Given the description of an element on the screen output the (x, y) to click on. 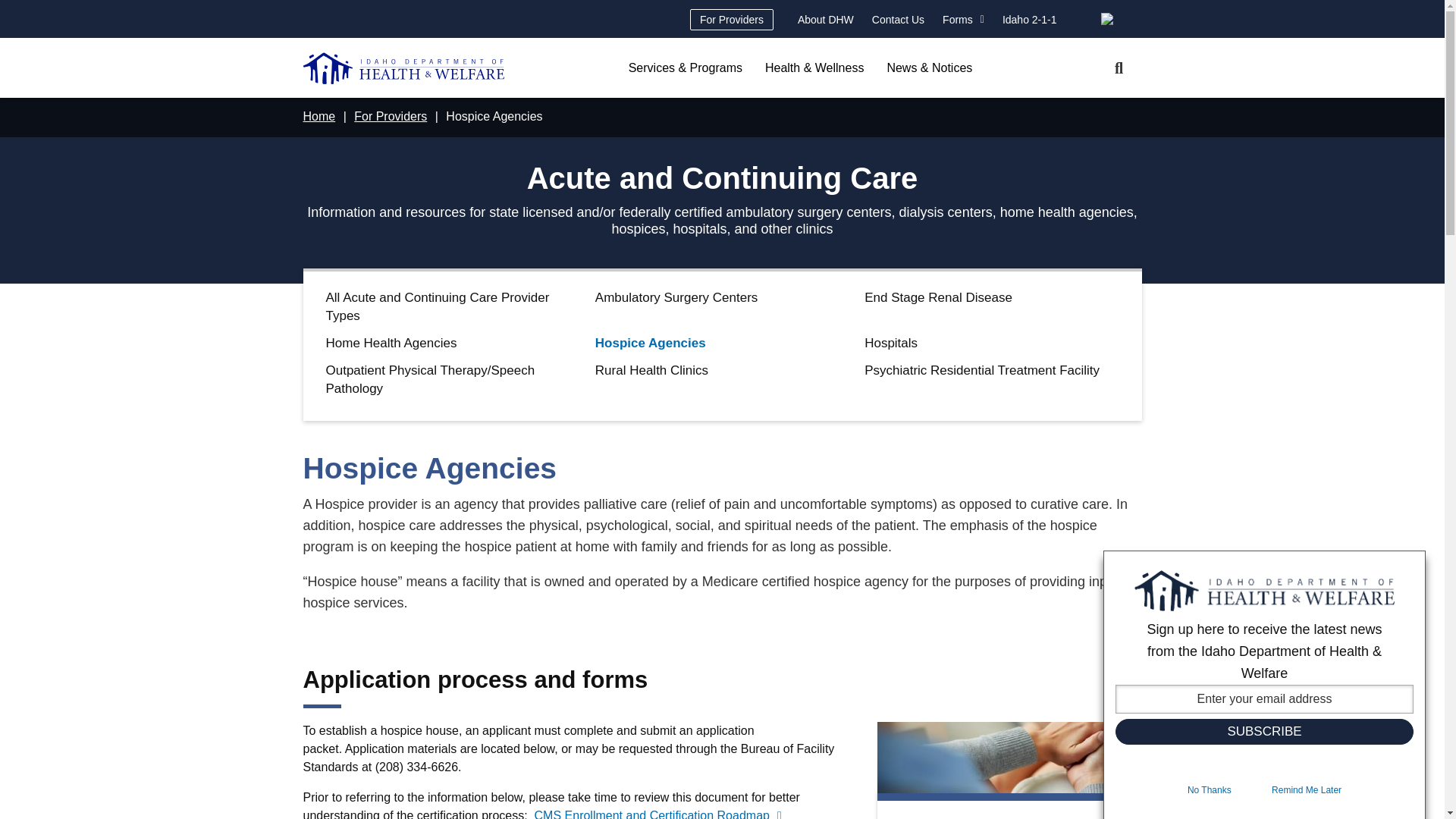
Enter your email address (1264, 698)
Home (403, 68)
Forms (962, 19)
Resources for providers (731, 19)
General Resources (1029, 19)
Idaho 2-1-1 (1029, 19)
For Providers (731, 19)
Contact Us (897, 19)
Subscribe (1264, 731)
